Given the description of an element on the screen output the (x, y) to click on. 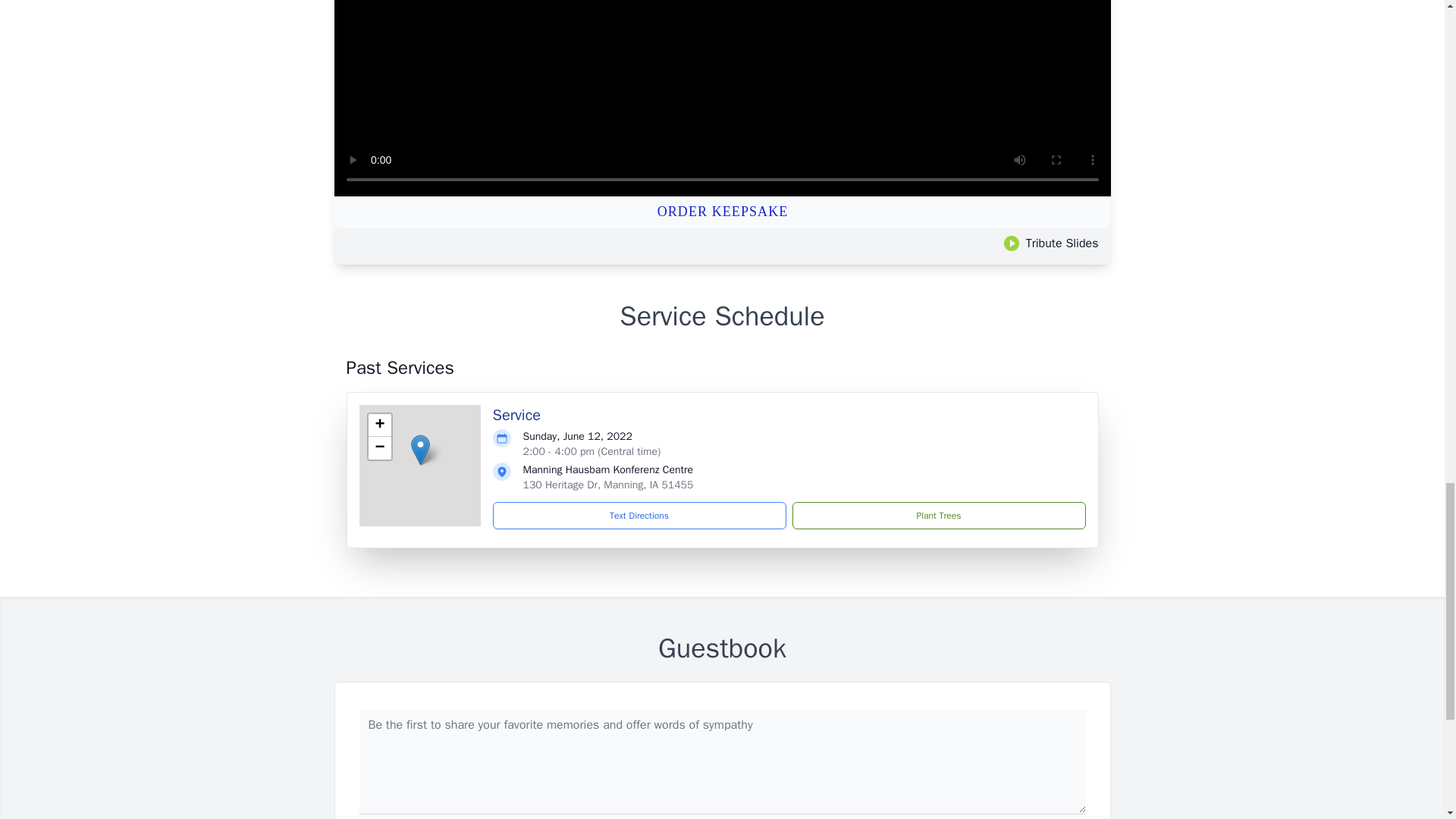
130 Heritage Dr, Manning, IA 51455 (608, 484)
Zoom out (379, 447)
Zoom in (379, 425)
Text Directions (639, 515)
Plant Trees (938, 515)
